Given the description of an element on the screen output the (x, y) to click on. 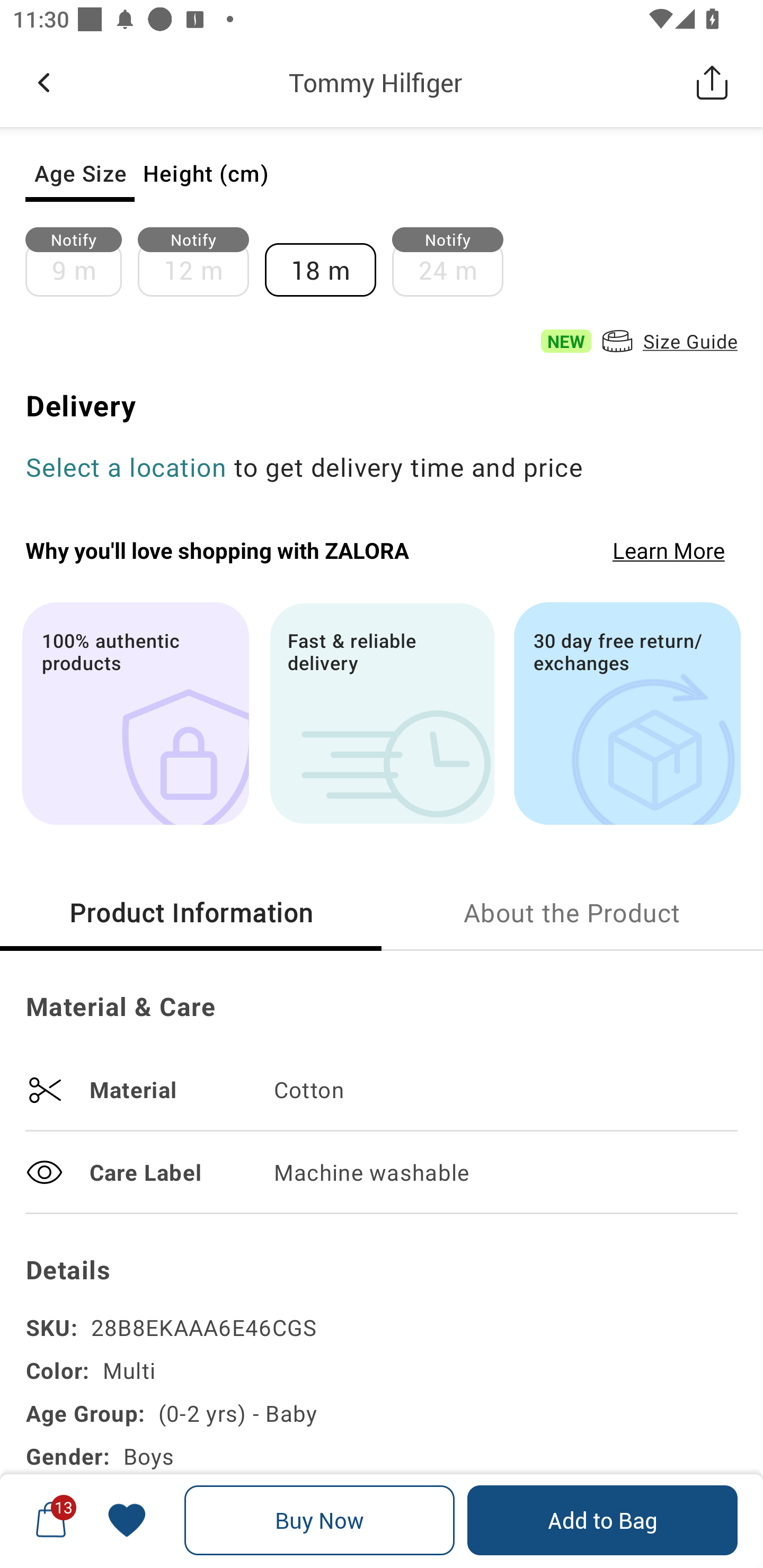
Tommy Hilfiger (375, 82)
Share this Product (711, 82)
Height (cm) (205, 173)
Notify 9 m (81, 261)
Notify 12 m (201, 261)
18 m (328, 261)
Notify 24 m (455, 261)
Size Guide (667, 340)
Learn More (668, 549)
100% authentic products (135, 713)
Fast & reliable delivery (381, 713)
30 day free return/exchanges (627, 713)
About the Product (572, 912)
Buy Now (319, 1519)
Add to Bag (601, 1519)
13 (50, 1520)
